Given the description of an element on the screen output the (x, y) to click on. 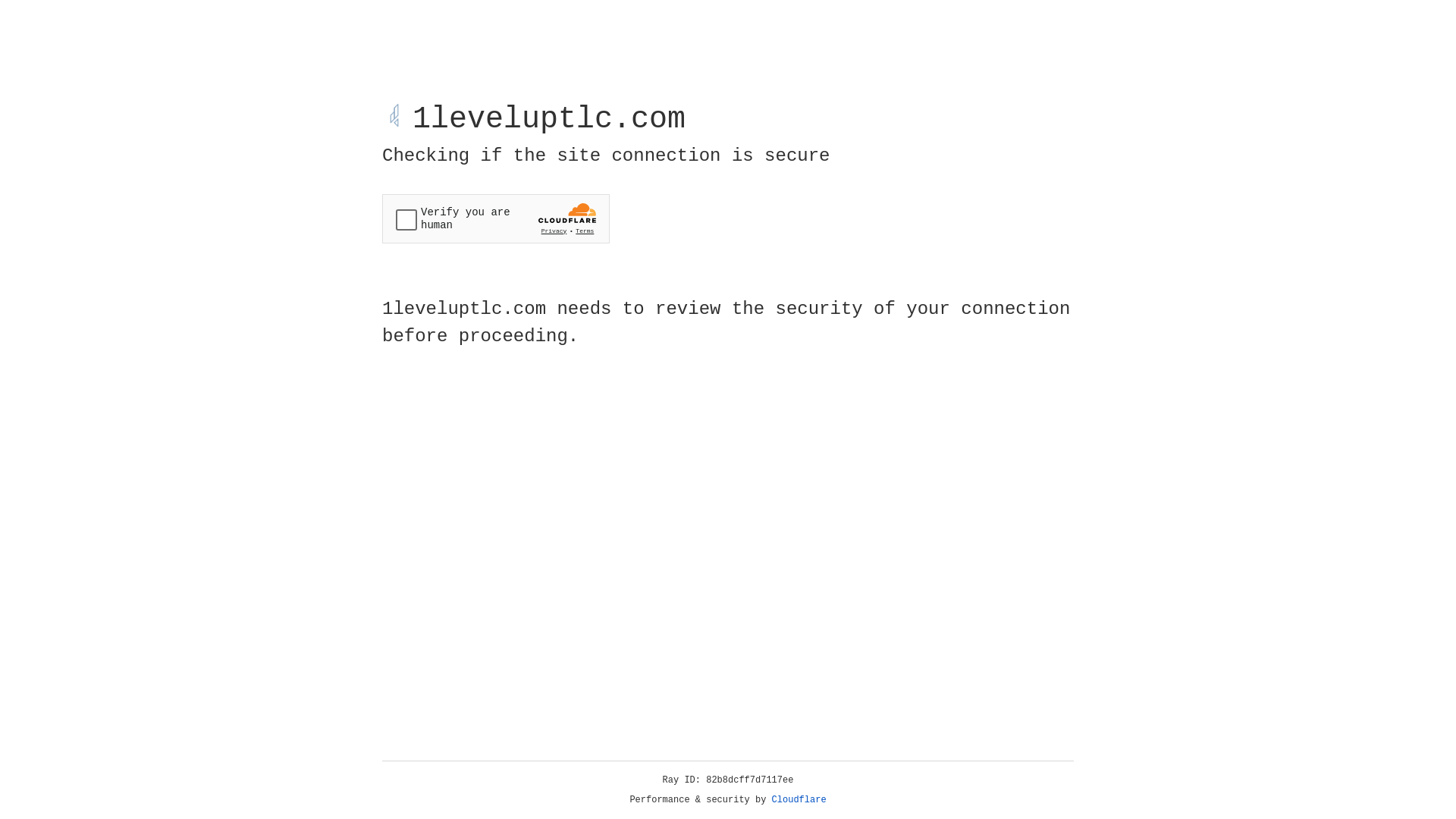
Widget containing a Cloudflare security challenge Element type: hover (495, 218)
Cloudflare Element type: text (798, 799)
